Given the description of an element on the screen output the (x, y) to click on. 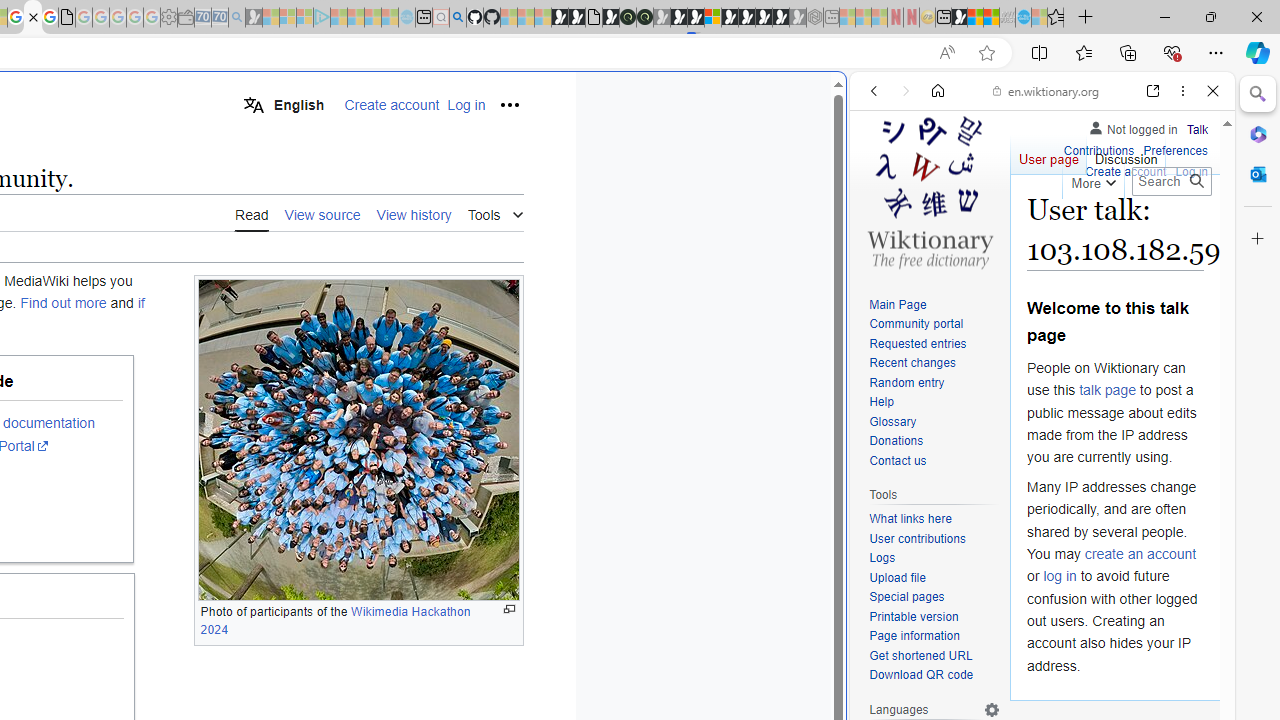
Donations (934, 442)
talk page (1107, 390)
Search Wiktionary (1171, 181)
User contributions (917, 538)
What links here (934, 519)
Contributions (1098, 148)
Download QR code (921, 675)
log in (1059, 576)
